Given the description of an element on the screen output the (x, y) to click on. 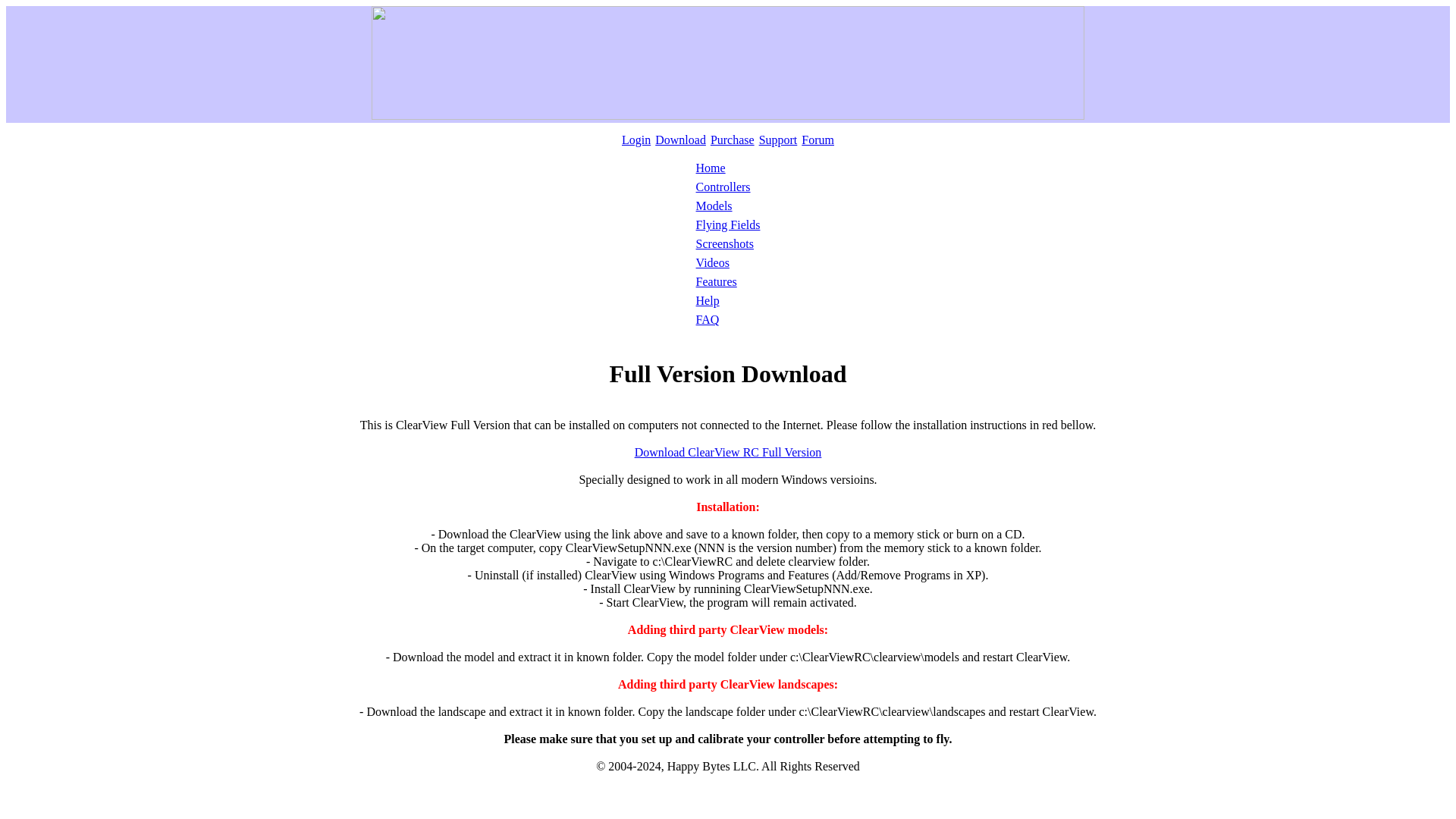
Purchase (732, 139)
FAQ (707, 318)
Download ClearView RC Full Version (728, 451)
Support (777, 139)
Forum (818, 139)
Controllers (723, 186)
Flying Fields (727, 224)
Login (635, 139)
Videos (712, 262)
Help (707, 300)
Download (680, 139)
Models (713, 205)
Home (710, 167)
Screenshots (724, 243)
534 (728, 451)
